Given the description of an element on the screen output the (x, y) to click on. 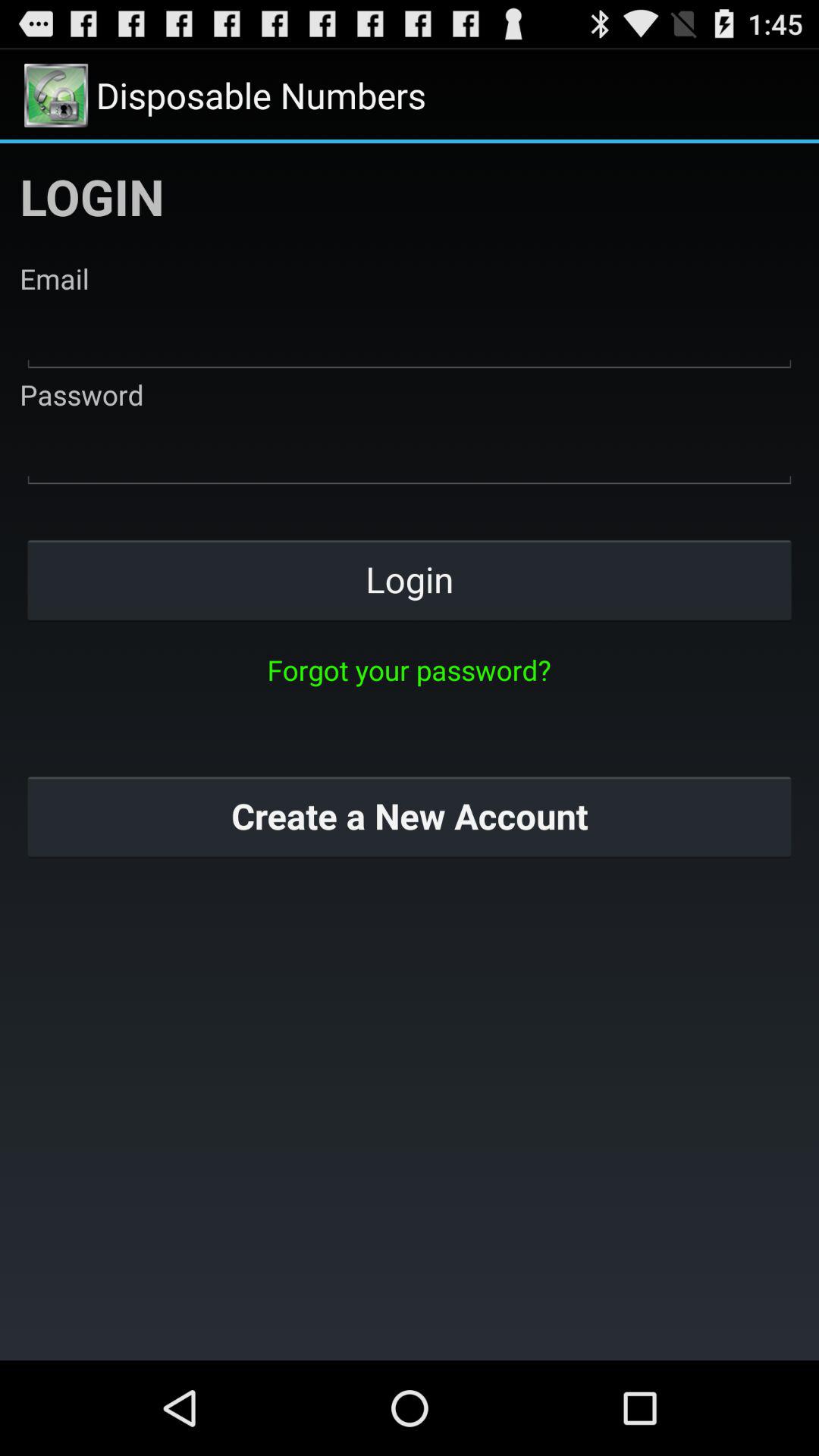
enter password here (409, 452)
